Given the description of an element on the screen output the (x, y) to click on. 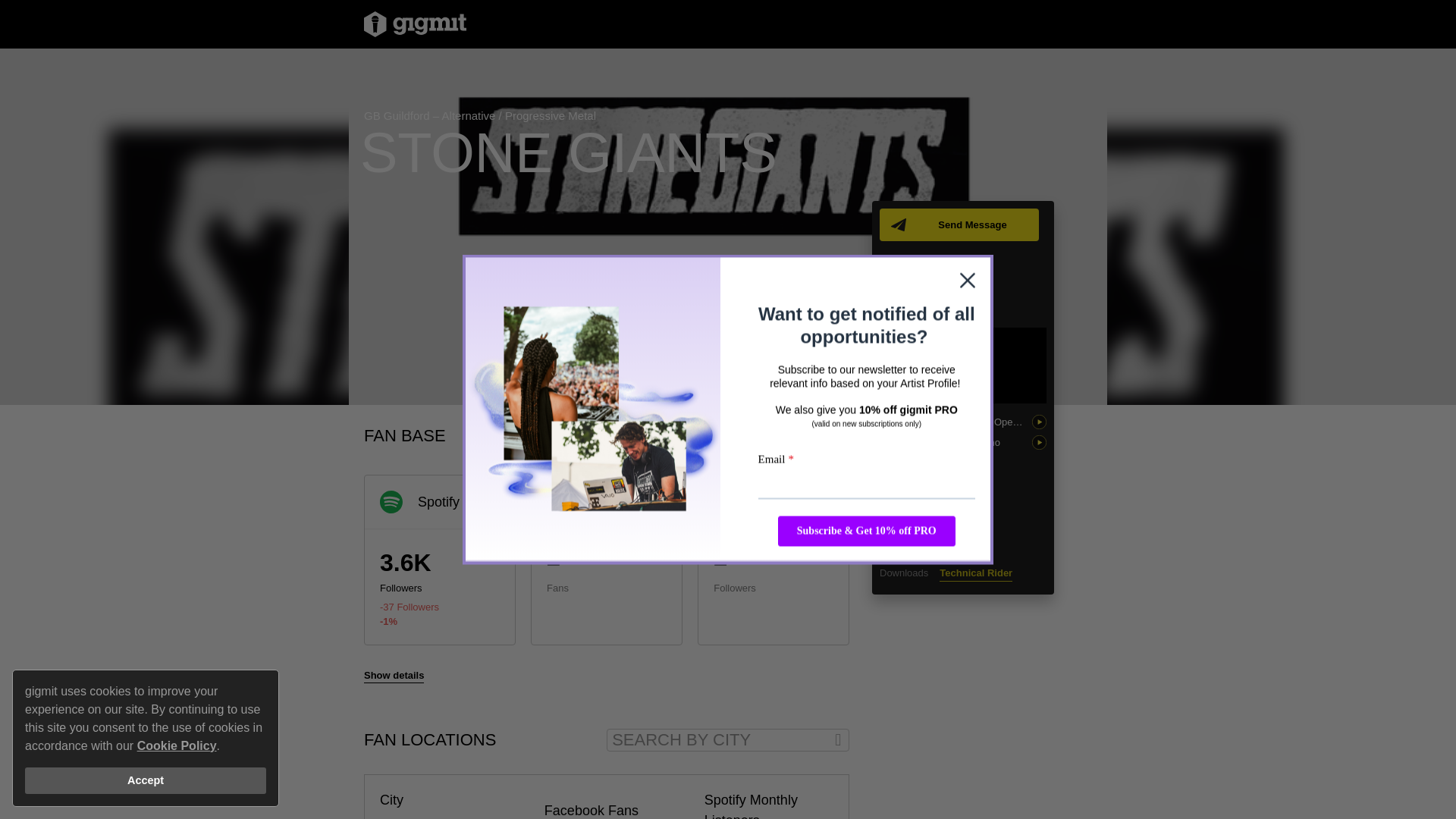
Show details (393, 675)
Technical Rider (975, 573)
Send Message (959, 224)
Cookie Policy (176, 744)
SEARCH BY CITY (727, 739)
Accept (145, 780)
